Given the description of an element on the screen output the (x, y) to click on. 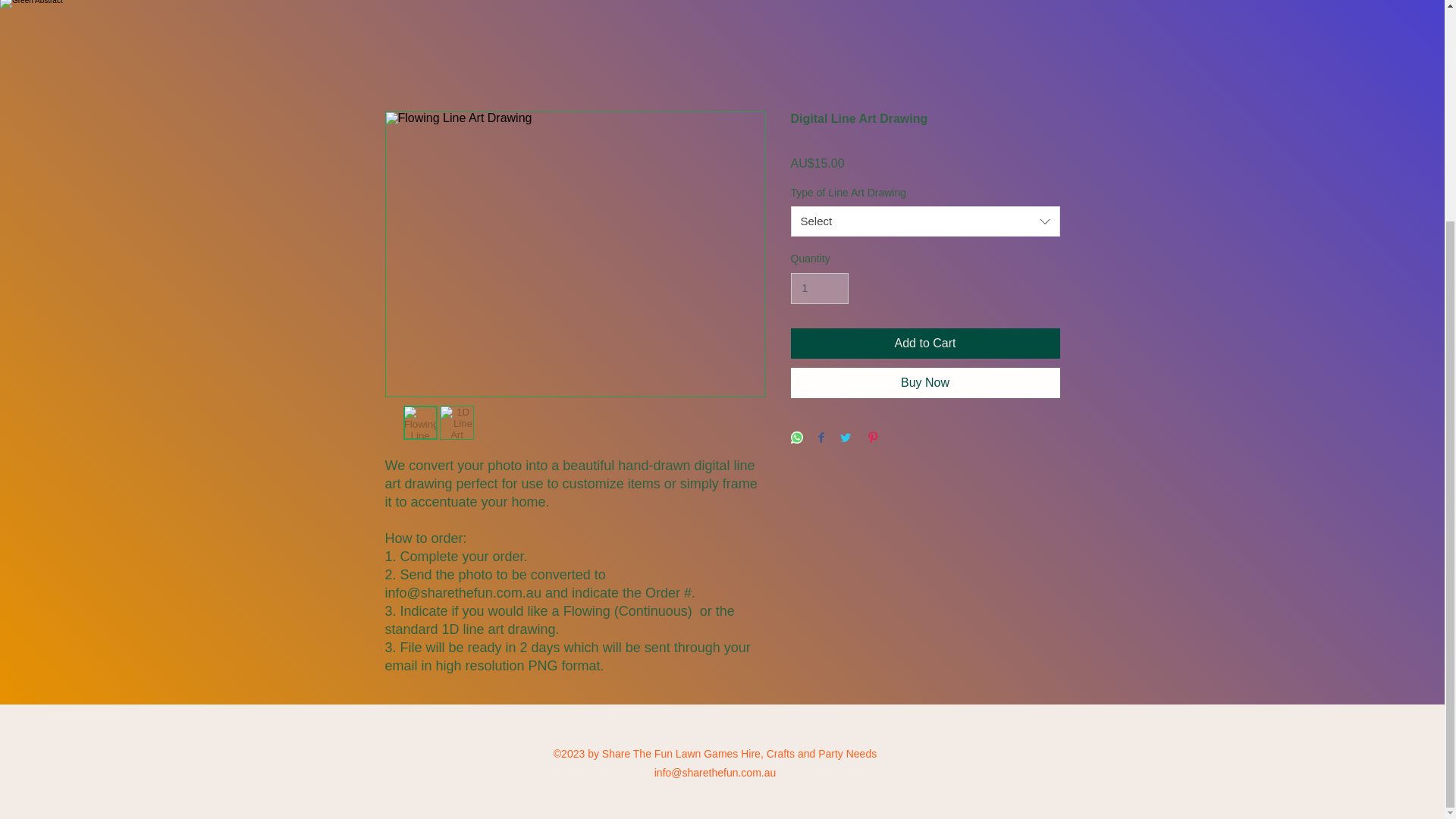
Select (924, 221)
1 (818, 287)
Buy Now (924, 382)
Add to Cart (924, 343)
